Given the description of an element on the screen output the (x, y) to click on. 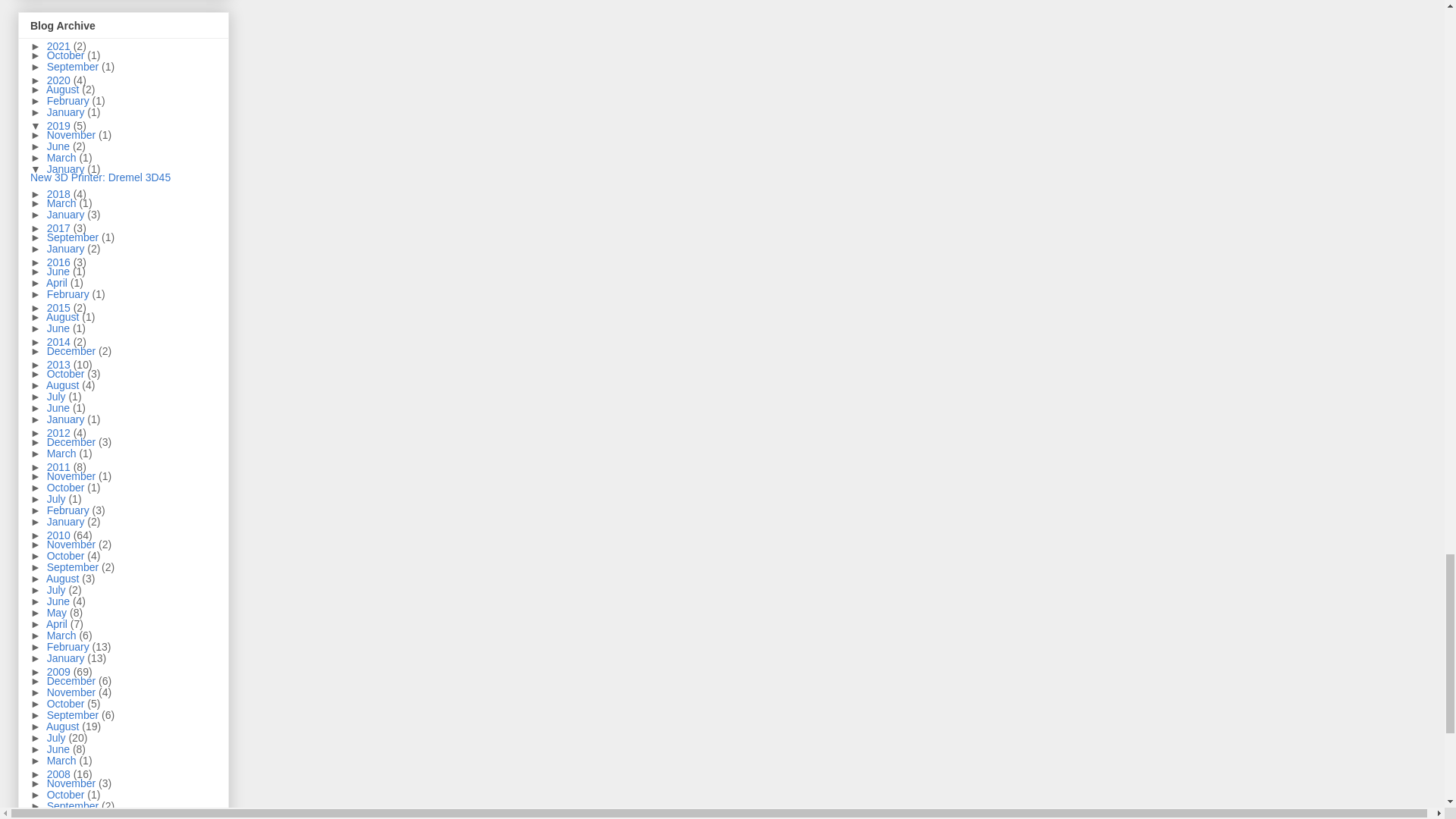
October (66, 55)
2021 (60, 46)
2020 (60, 80)
August (63, 89)
2019 (60, 125)
February (69, 101)
November (72, 134)
January (66, 111)
September (73, 66)
